Given the description of an element on the screen output the (x, y) to click on. 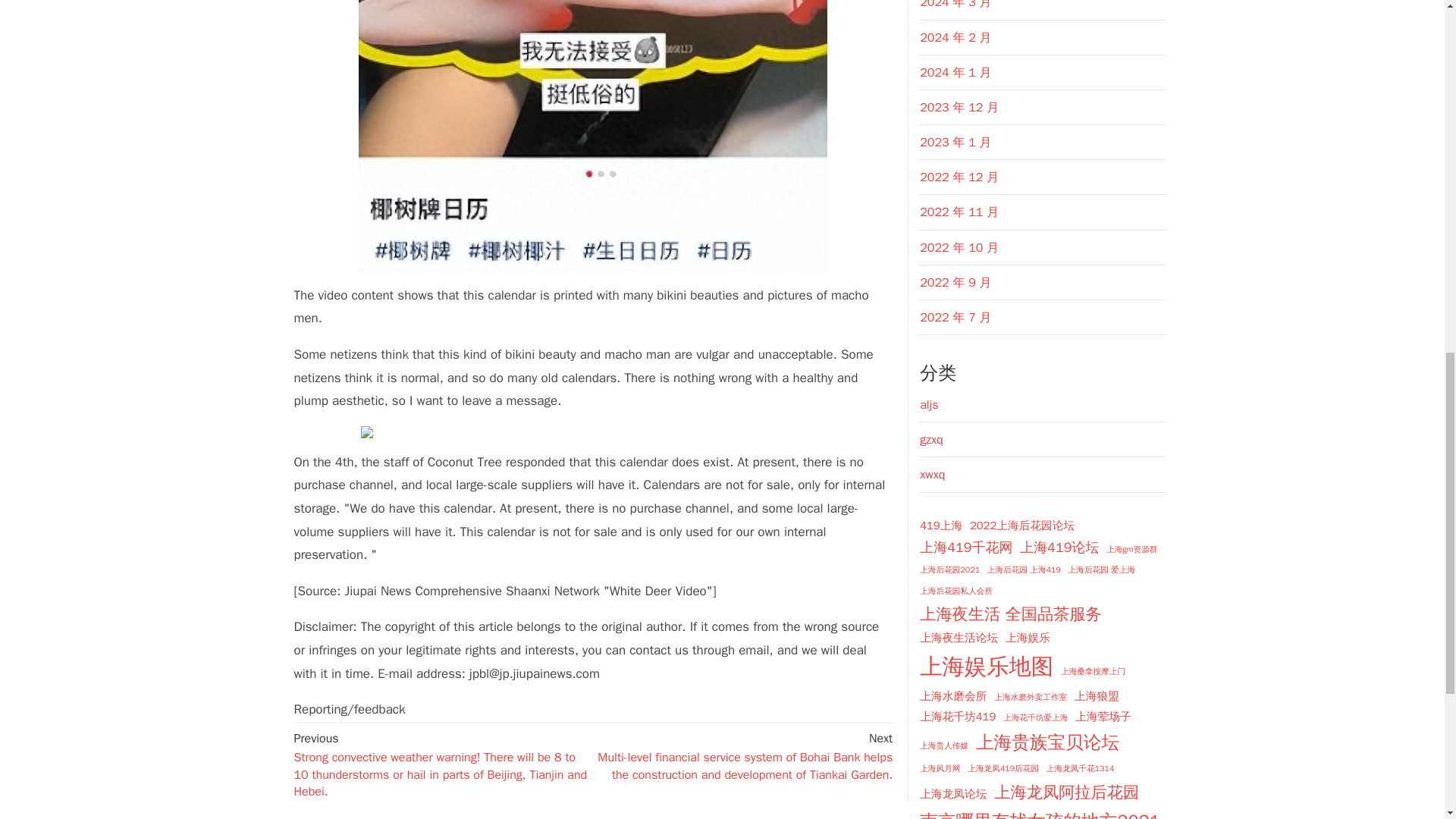
aljs (928, 404)
xwxq (932, 474)
gzxq (931, 439)
